Given the description of an element on the screen output the (x, y) to click on. 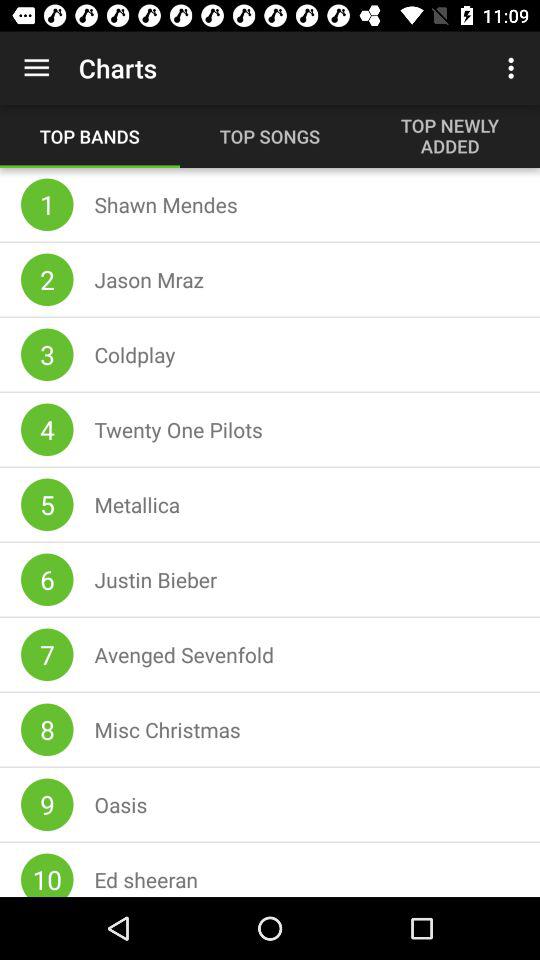
launch the 7 icon (47, 654)
